Given the description of an element on the screen output the (x, y) to click on. 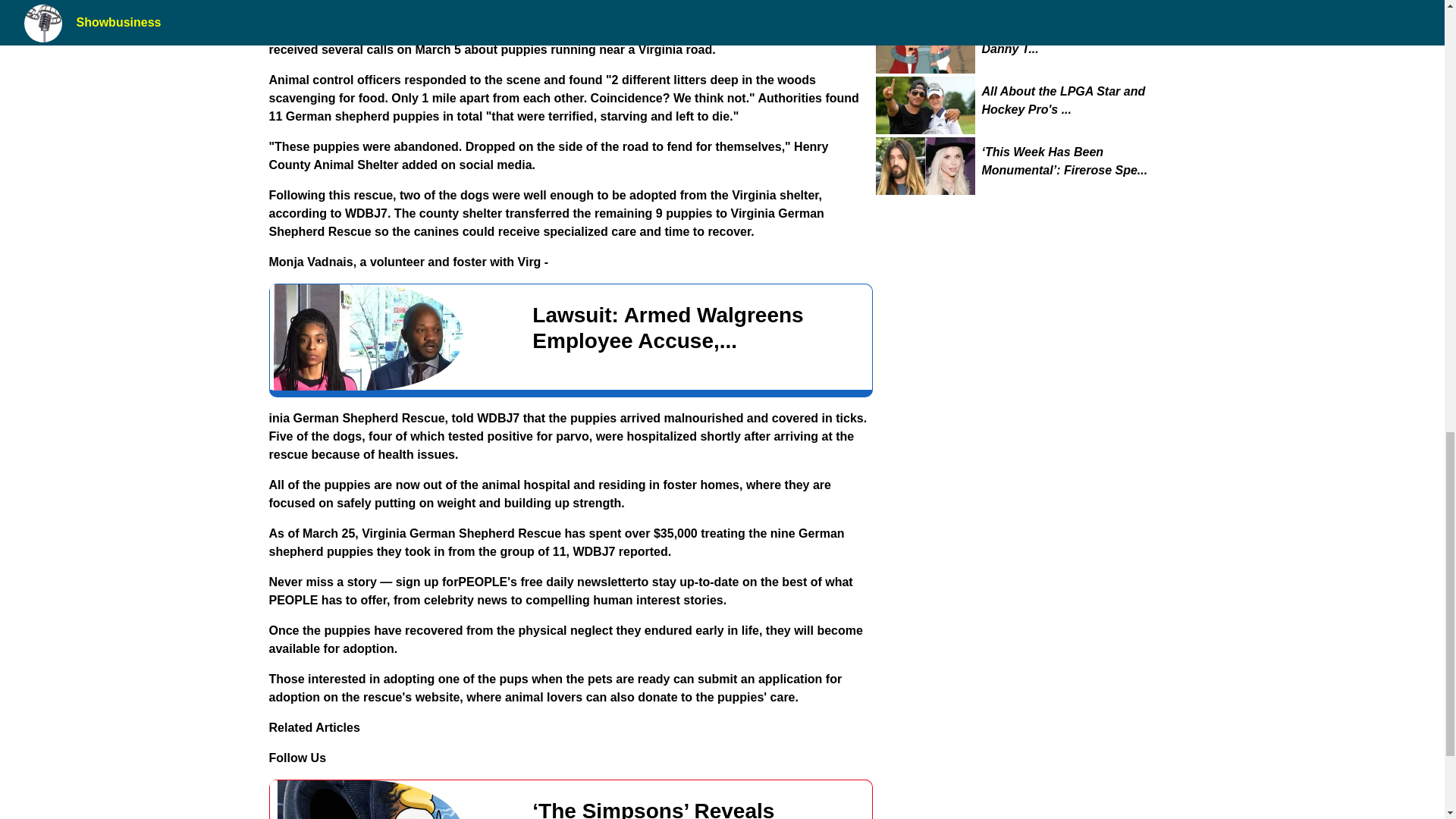
All About the LPGA Star and Hockey Pro's ... (1075, 100)
Lawsuit: Armed Walgreens Employee Accuse,... (570, 337)
